Given the description of an element on the screen output the (x, y) to click on. 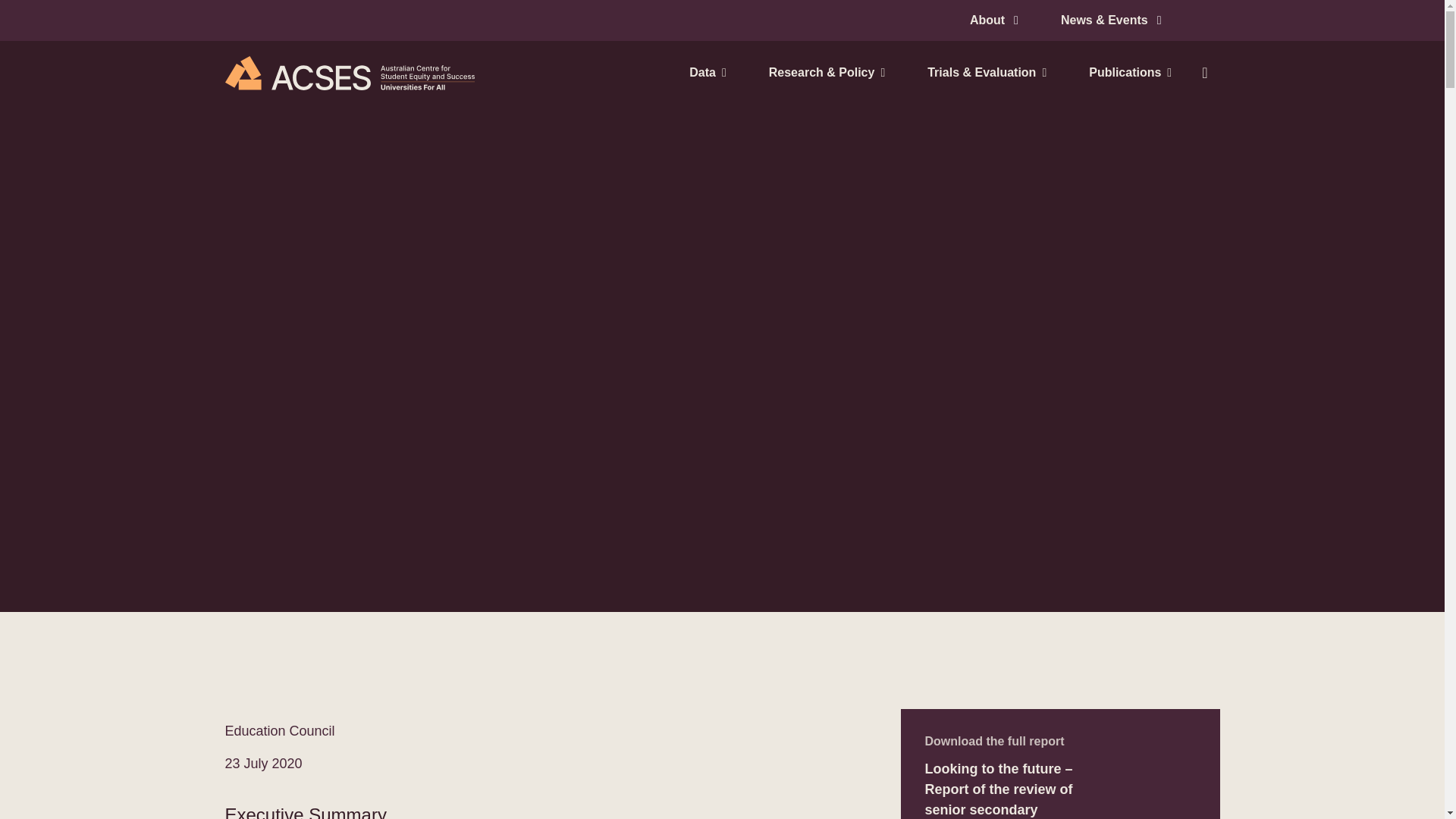
Data (707, 72)
Publications (1124, 72)
About (993, 20)
